Given the description of an element on the screen output the (x, y) to click on. 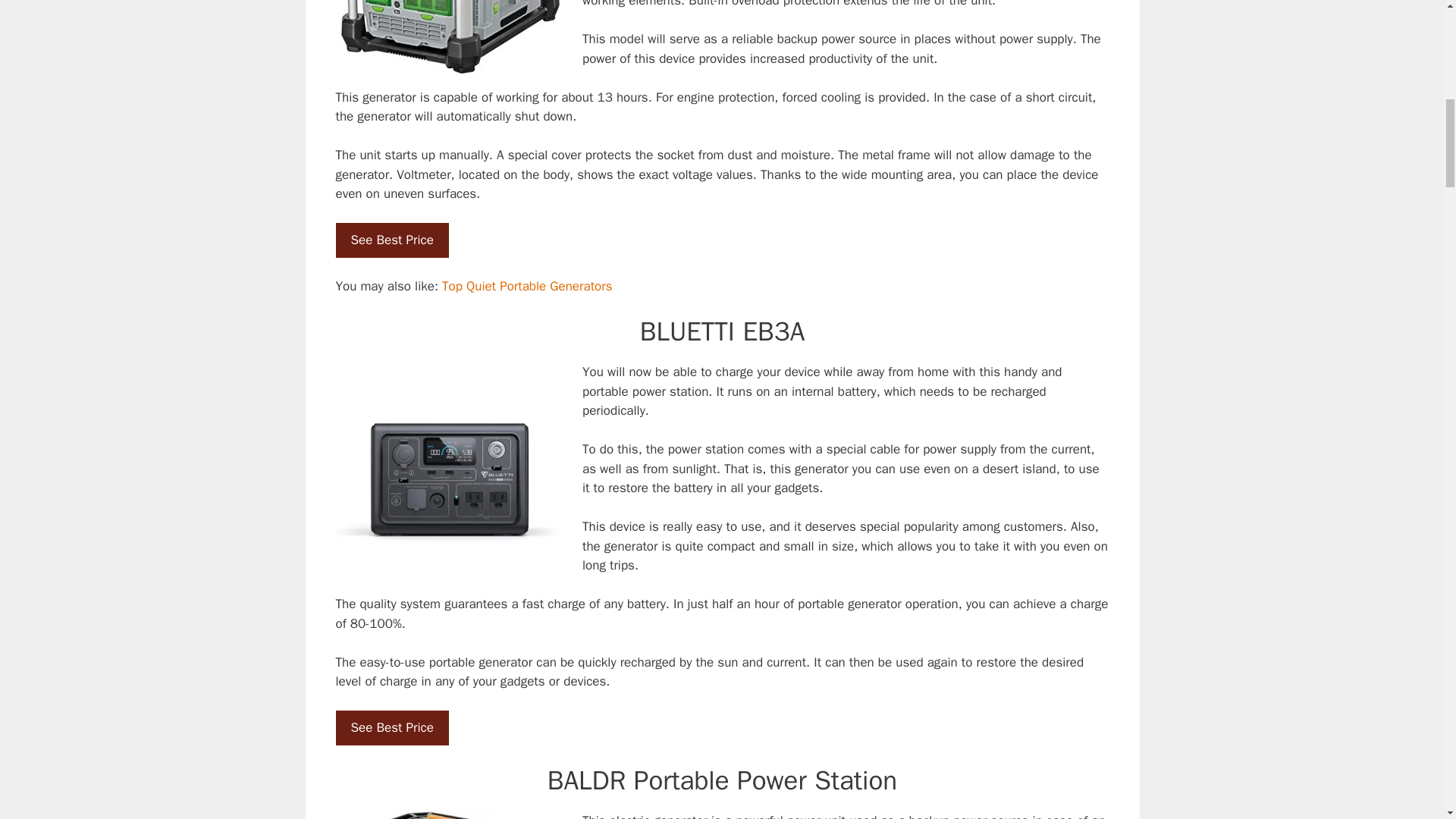
See Best Price (391, 239)
Top Quiet Portable Generators (526, 286)
See Best Price (391, 727)
